Given the description of an element on the screen output the (x, y) to click on. 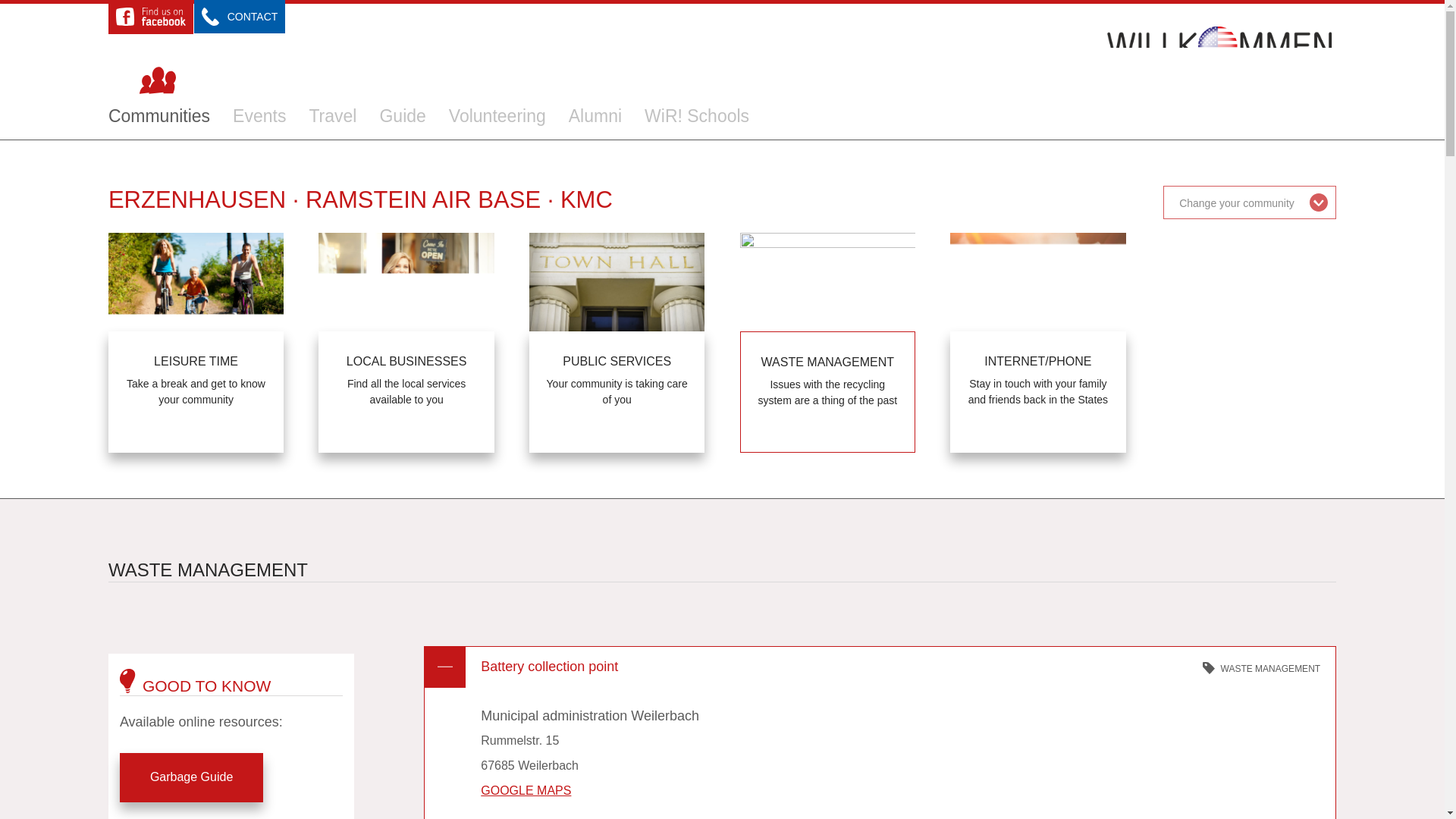
Volunteering (497, 116)
Volunteering (497, 116)
Events (258, 116)
Opens external link in new window (525, 789)
Guide (401, 116)
WiR! Schools (697, 116)
Opens external link in new window (191, 777)
LOCAL BUSINESSES (405, 391)
Travel (332, 116)
